Given the description of an element on the screen output the (x, y) to click on. 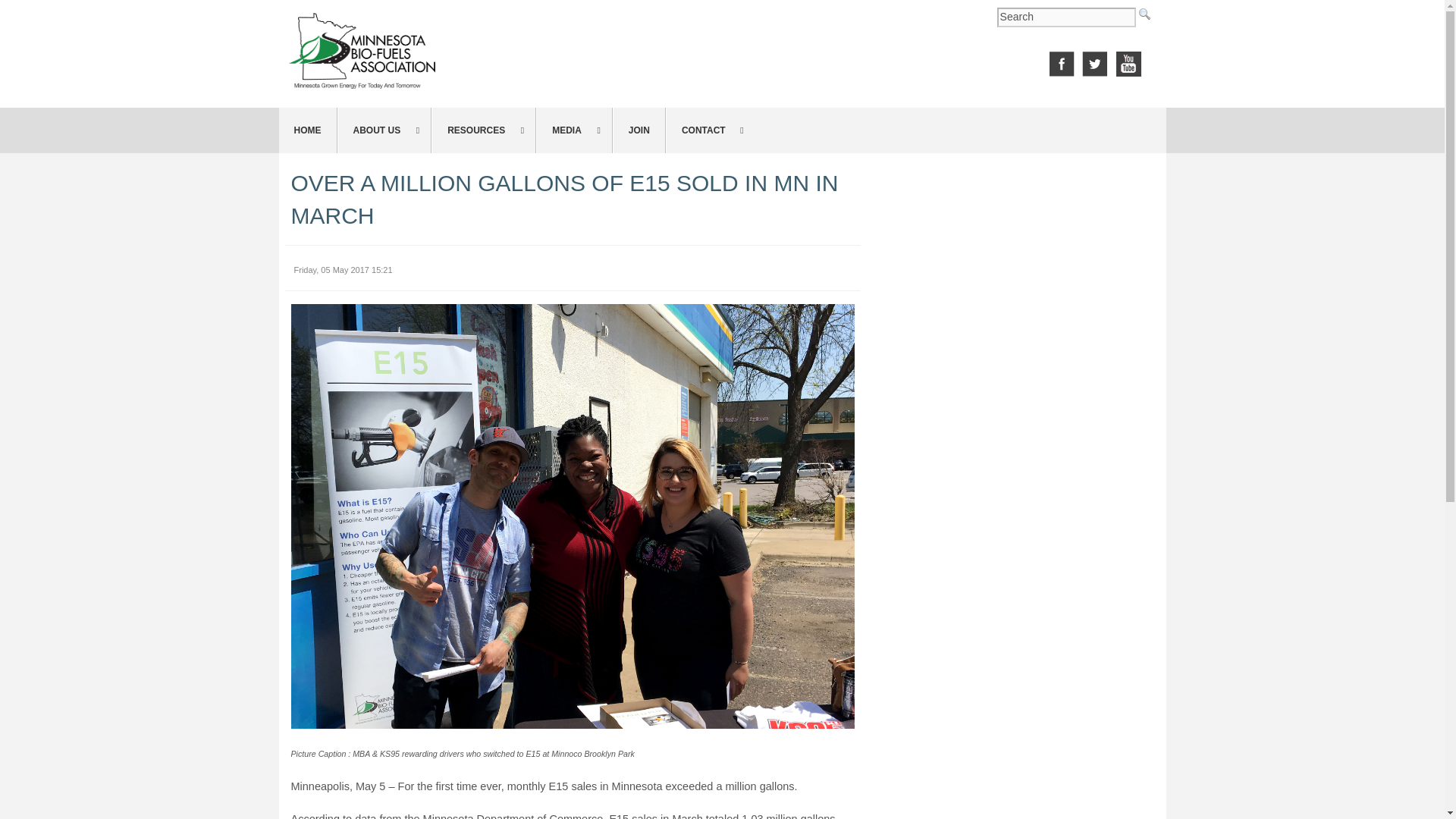
MEDIA (573, 130)
Follow MN Bio-Fuels Association on Twitter! (1095, 62)
Follow MN Bio-Fuels Association on Facebook! (1061, 62)
HOME (308, 130)
Visit our YouTube channel (1128, 62)
Search (1066, 17)
ABOUT US (383, 130)
RESOURCES (482, 130)
